Given the description of an element on the screen output the (x, y) to click on. 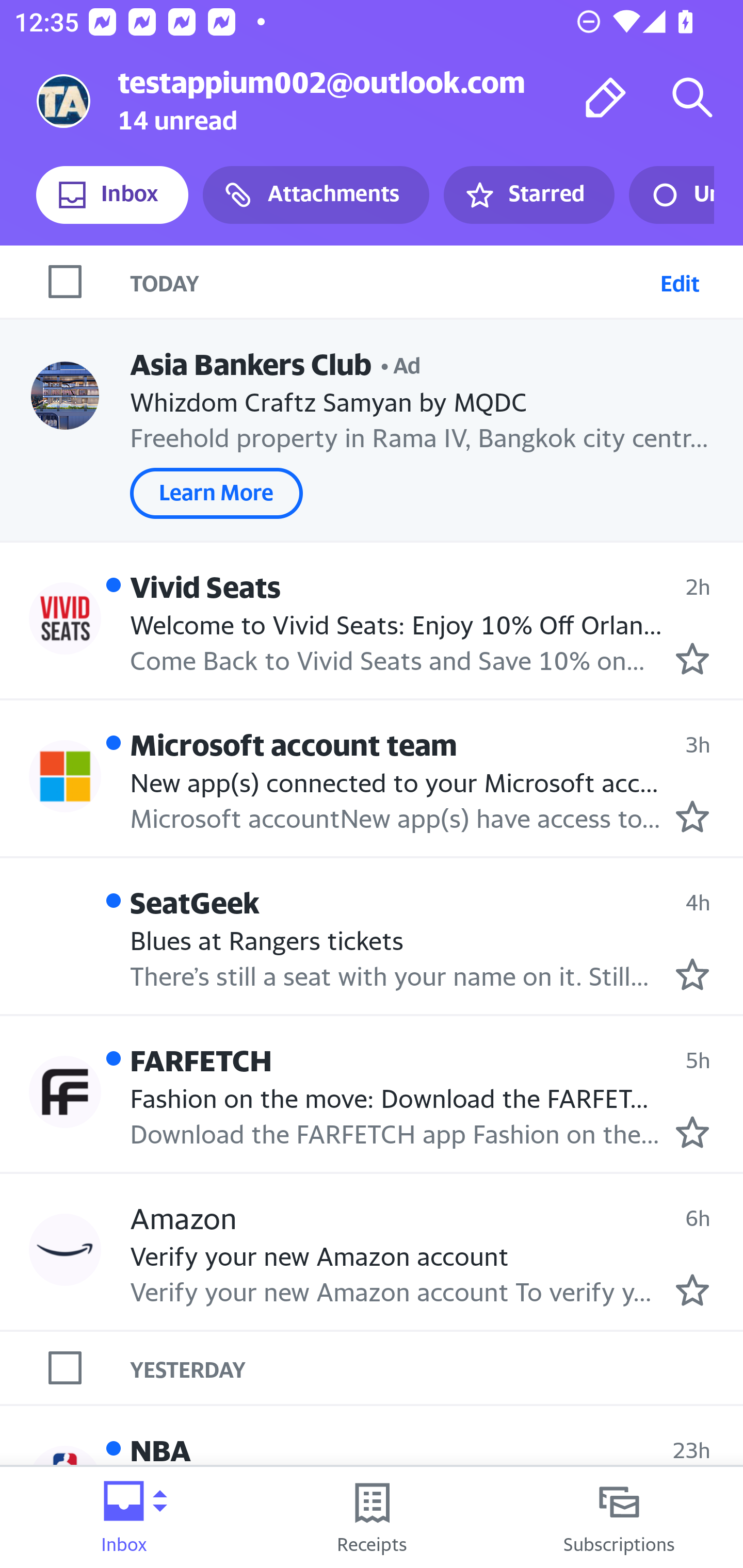
Compose (605, 97)
Search mail (692, 97)
Attachments (315, 195)
Starred (528, 195)
TODAY (391, 281)
Edit Select emails (679, 281)
Profile
Vivid Seats (64, 617)
Mark as starred. (692, 659)
Profile
Microsoft account team (64, 776)
Mark as starred. (692, 816)
Profile
SeatGeek (64, 934)
Mark as starred. (692, 974)
Profile
FARFETCH (64, 1091)
Mark as starred. (692, 1132)
Profile
Amazon (64, 1249)
Mark as starred. (692, 1289)
YESTERDAY (436, 1367)
Inbox Folder picker (123, 1517)
Receipts (371, 1517)
Subscriptions (619, 1517)
